Given the description of an element on the screen output the (x, y) to click on. 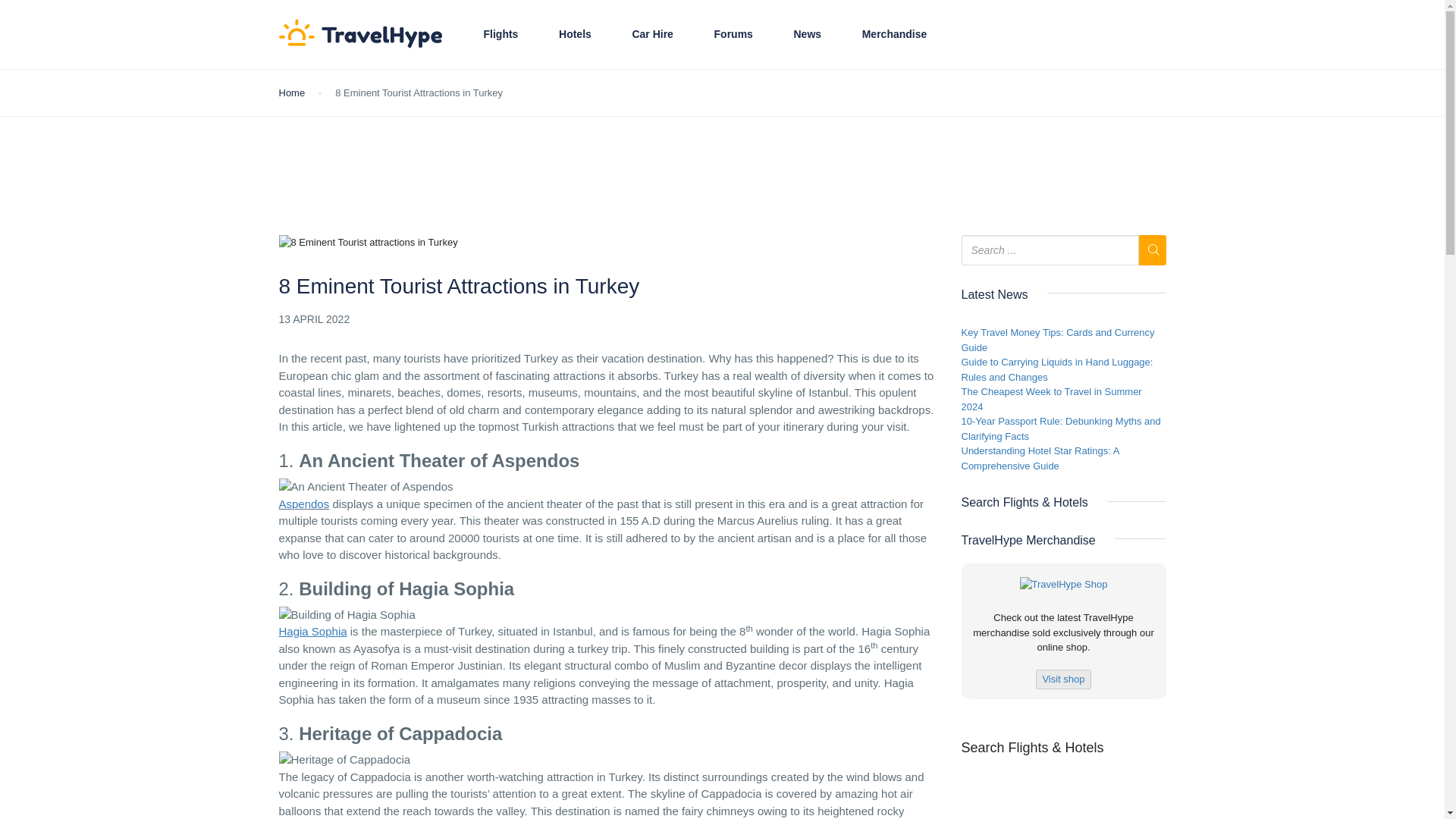
Guide to Carrying Liquids in Hand Luggage: Rules and Changes (1056, 369)
The Cheapest Week to Travel in Summer 2024 (1050, 398)
Car Hire (651, 34)
News (807, 34)
TravelHype Shop (1064, 584)
Home (292, 92)
Merchandise (894, 34)
Aspendos (304, 503)
TravelHype Shop (1062, 678)
Forums (733, 34)
Key Travel Money Tips: Cards and Currency Guide (1057, 339)
Hotels (575, 34)
Flights (500, 34)
Hagia Sophia (313, 631)
